Given the description of an element on the screen output the (x, y) to click on. 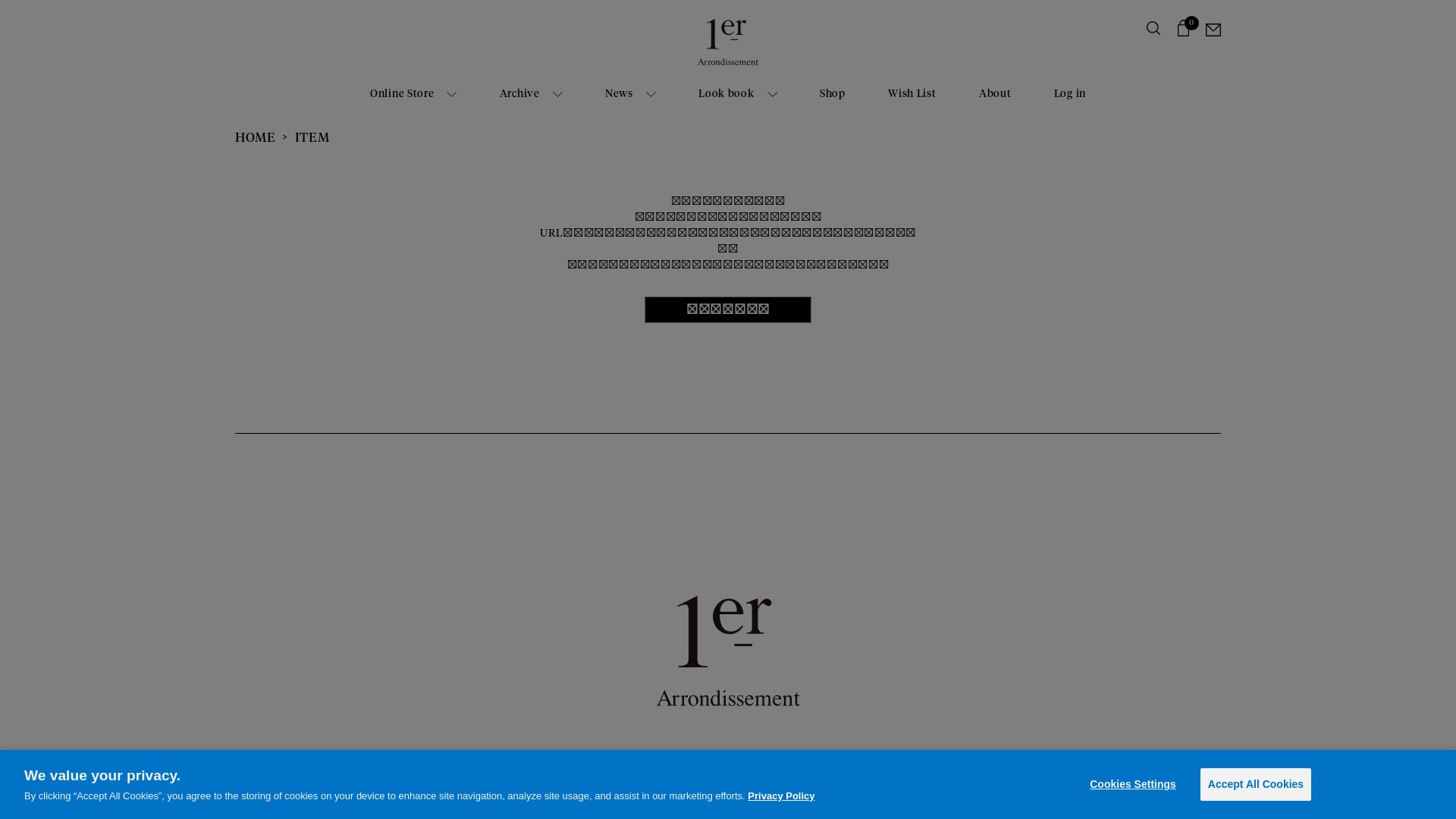
Online Store Element type: text (413, 94)
HOME Element type: text (255, 137)
Archive Element type: text (530, 94)
ITEM Element type: text (311, 137)
Wish List Element type: text (911, 94)
1er Arrondissement Element type: text (727, 46)
News Element type: text (630, 94)
About Element type: text (995, 94)
Shop Element type: text (832, 94)
Log in Element type: text (1069, 94)
Look book Element type: text (737, 94)
